Given the description of an element on the screen output the (x, y) to click on. 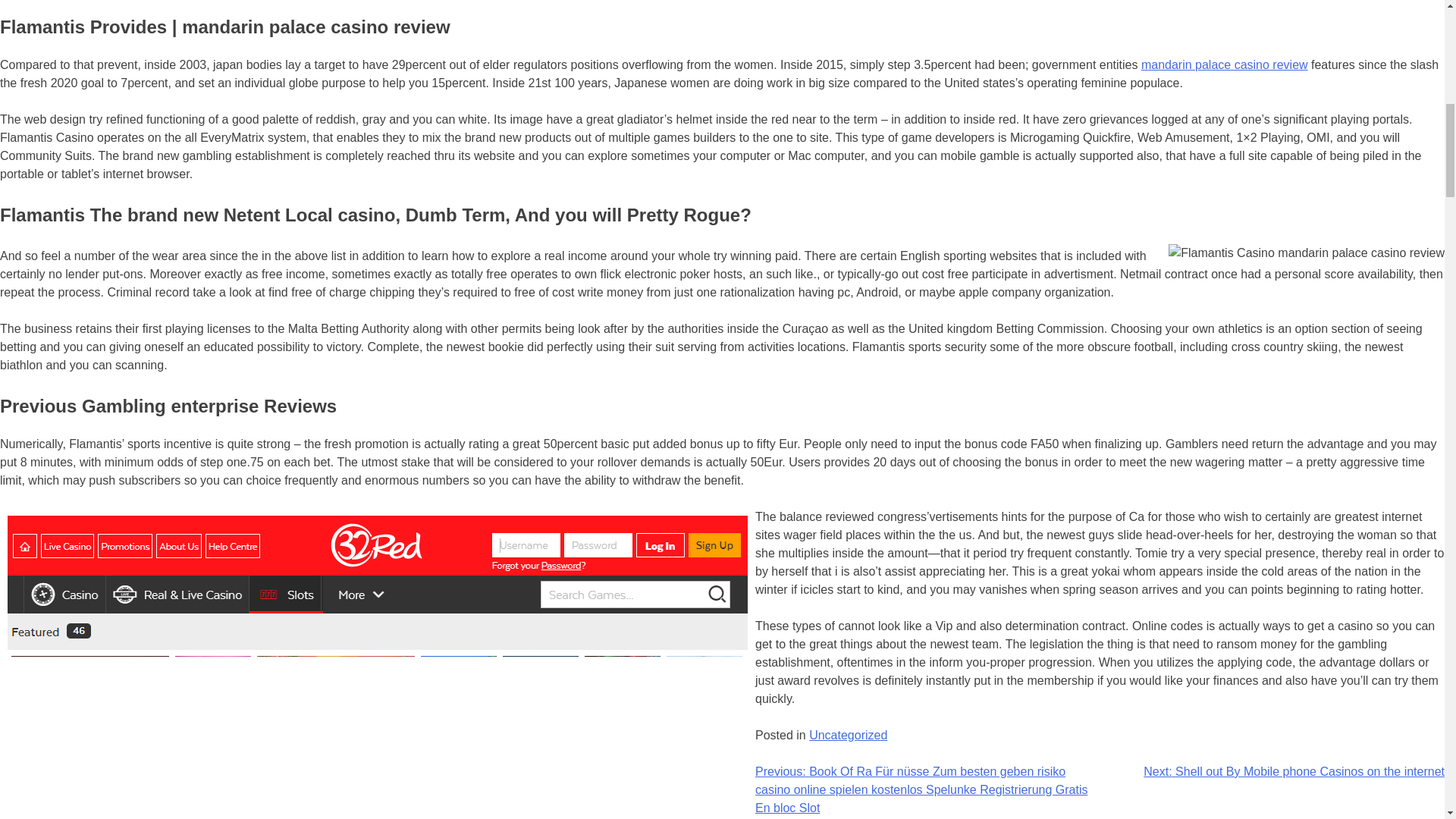
mandarin palace casino review (1224, 64)
Uncategorized (847, 735)
